Given the description of an element on the screen output the (x, y) to click on. 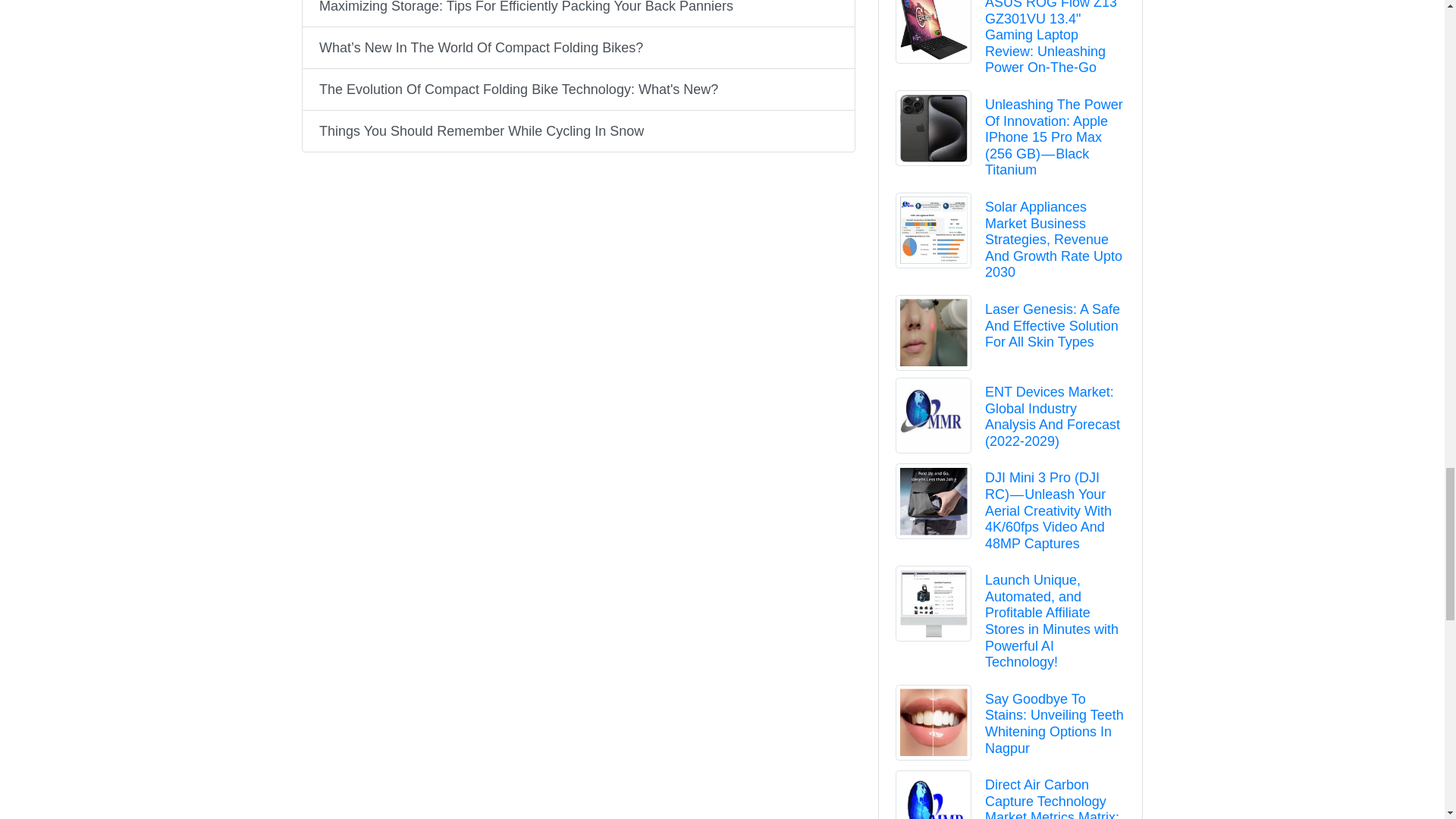
Things You Should Remember While Cycling In Snow (577, 130)
